Given the description of an element on the screen output the (x, y) to click on. 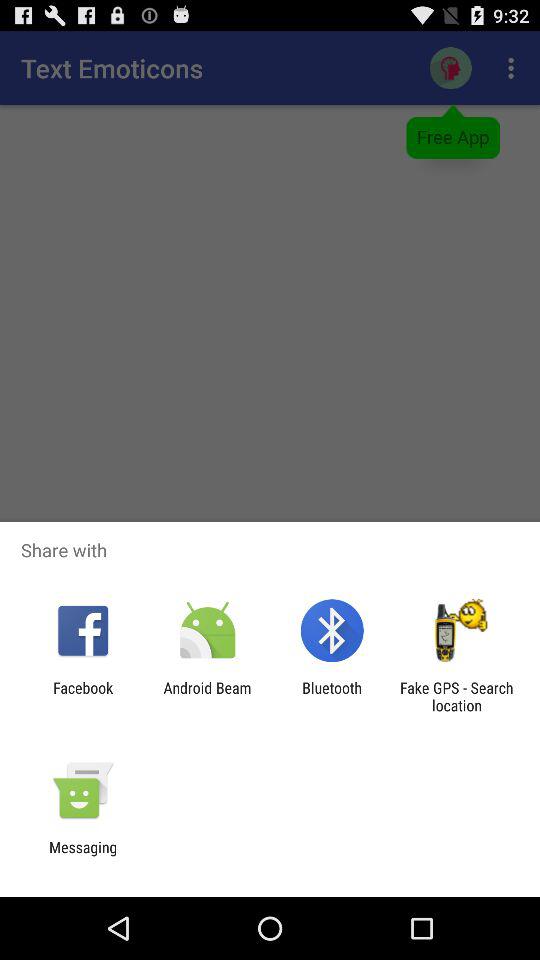
swipe to android beam icon (207, 696)
